Given the description of an element on the screen output the (x, y) to click on. 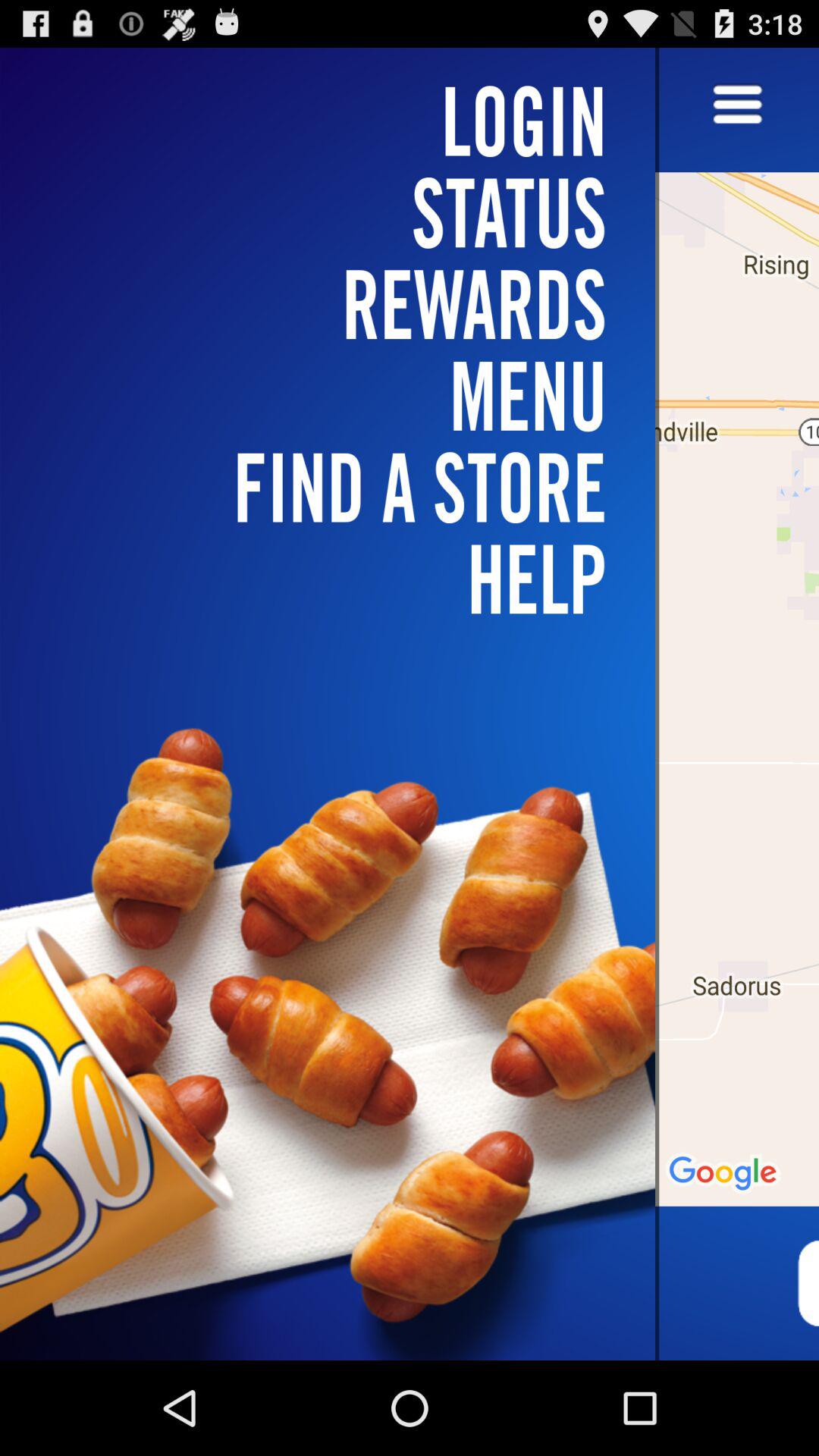
menu (737, 105)
